Given the description of an element on the screen output the (x, y) to click on. 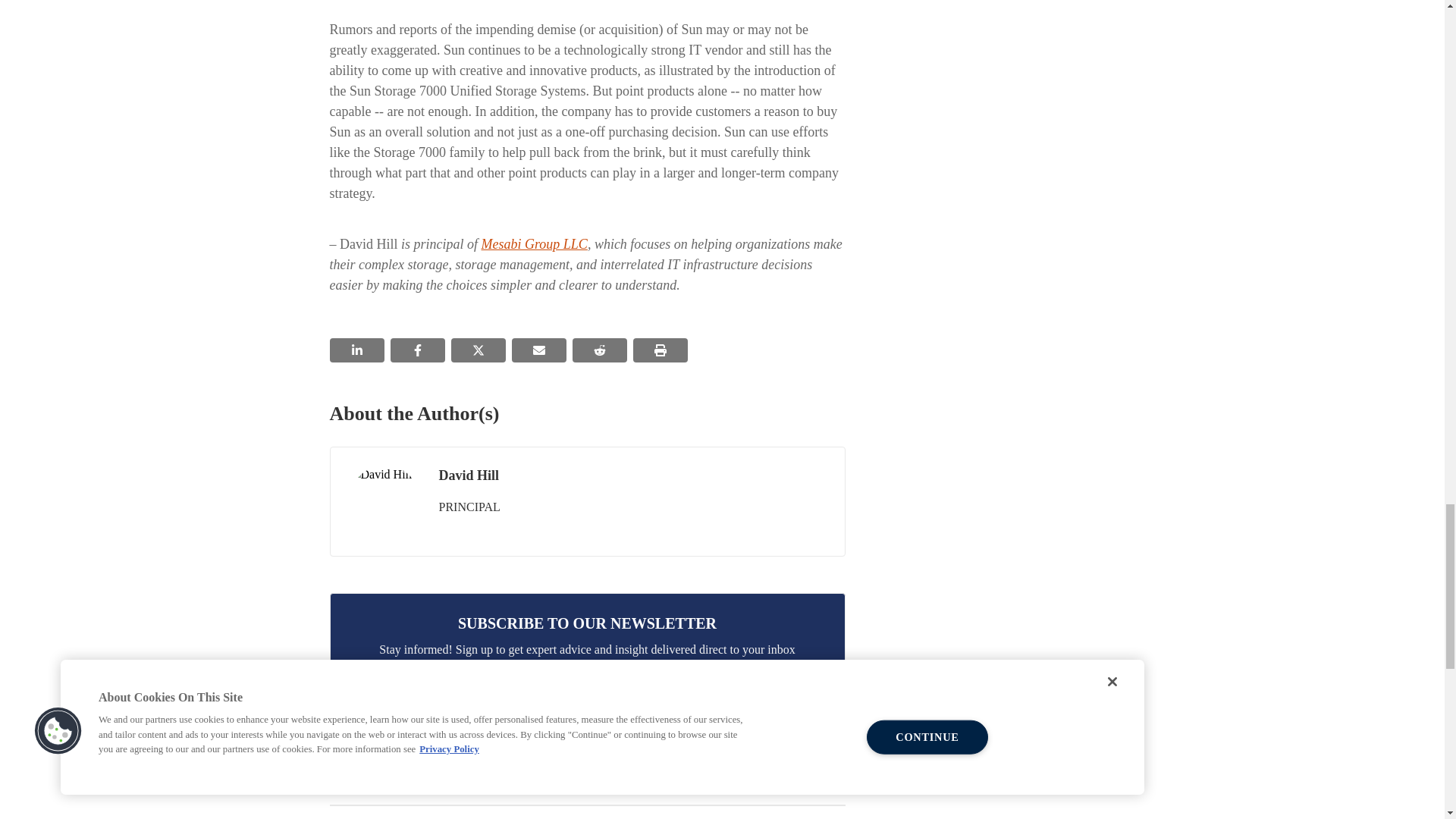
David Hill (384, 501)
